Given the description of an element on the screen output the (x, y) to click on. 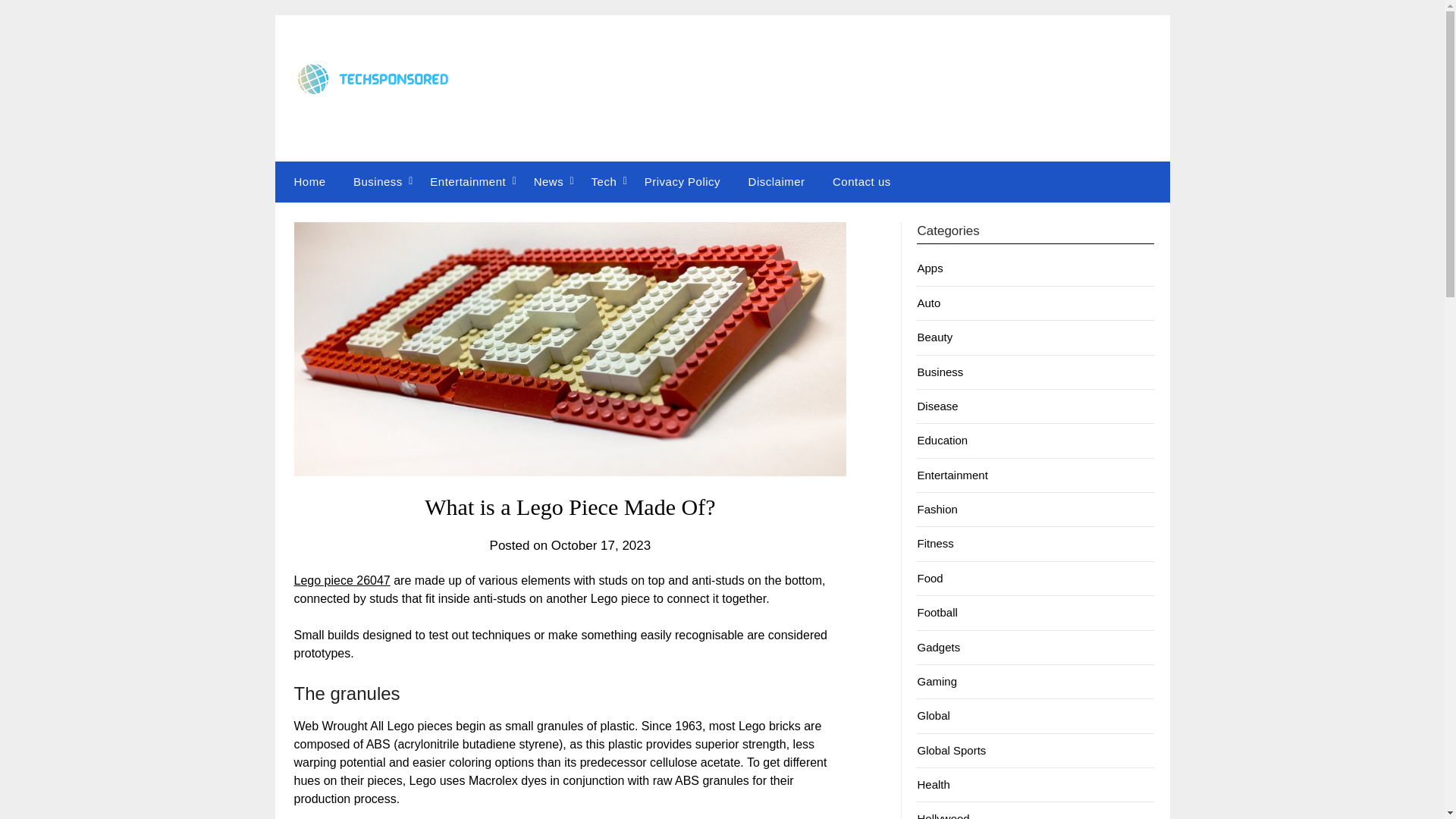
Business (377, 181)
Entertainment (952, 474)
Tech (603, 181)
Football (936, 612)
Home (306, 181)
Fitness (935, 543)
Fashion (936, 508)
Disease (937, 405)
Education (942, 440)
Gadgets (938, 646)
Food (929, 577)
Entertainment (467, 181)
Contact us (861, 181)
Lego piece 26047 (342, 579)
Privacy Policy (681, 181)
